Given the description of an element on the screen output the (x, y) to click on. 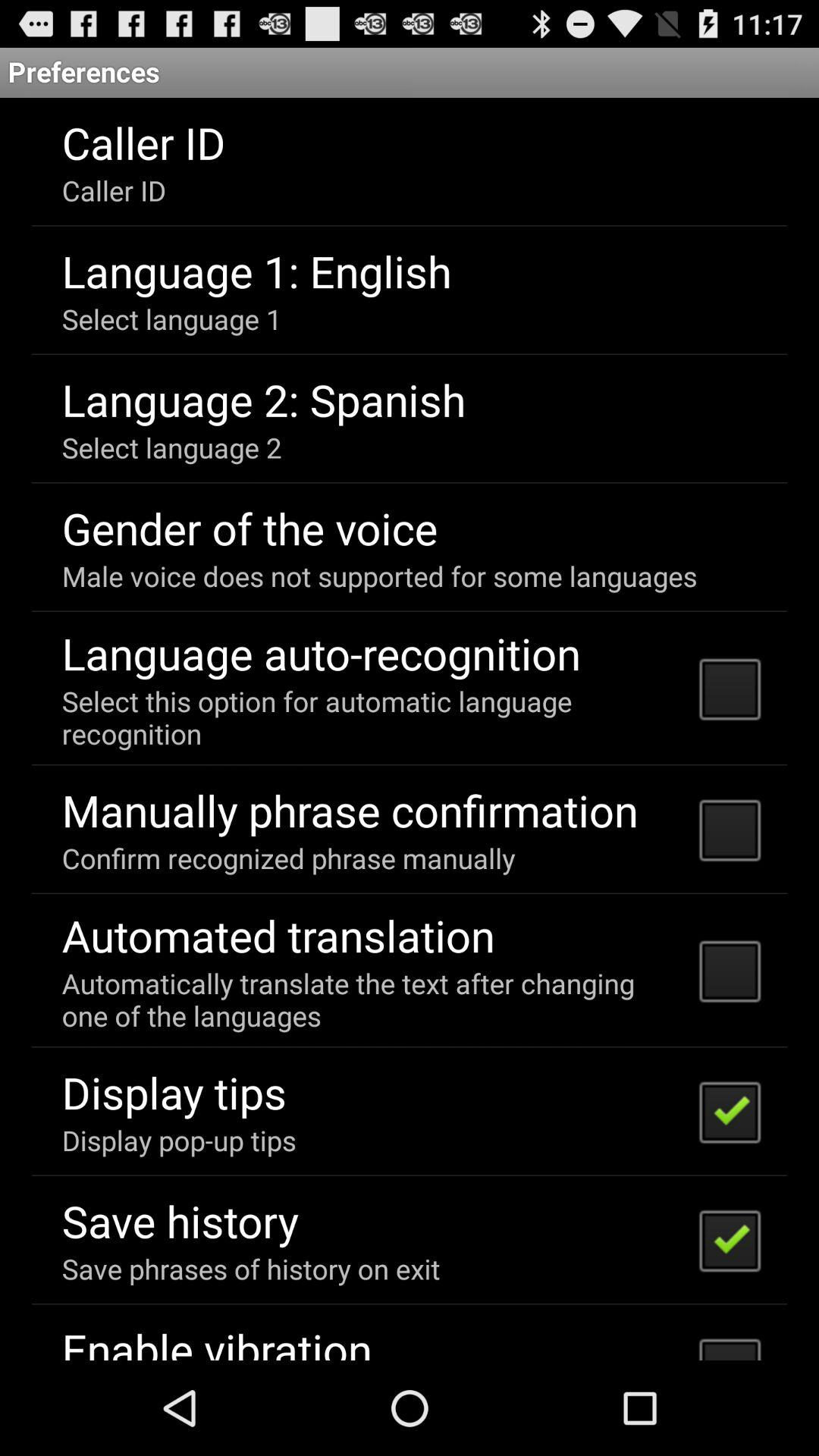
turn off the icon below display tips (178, 1140)
